Given the description of an element on the screen output the (x, y) to click on. 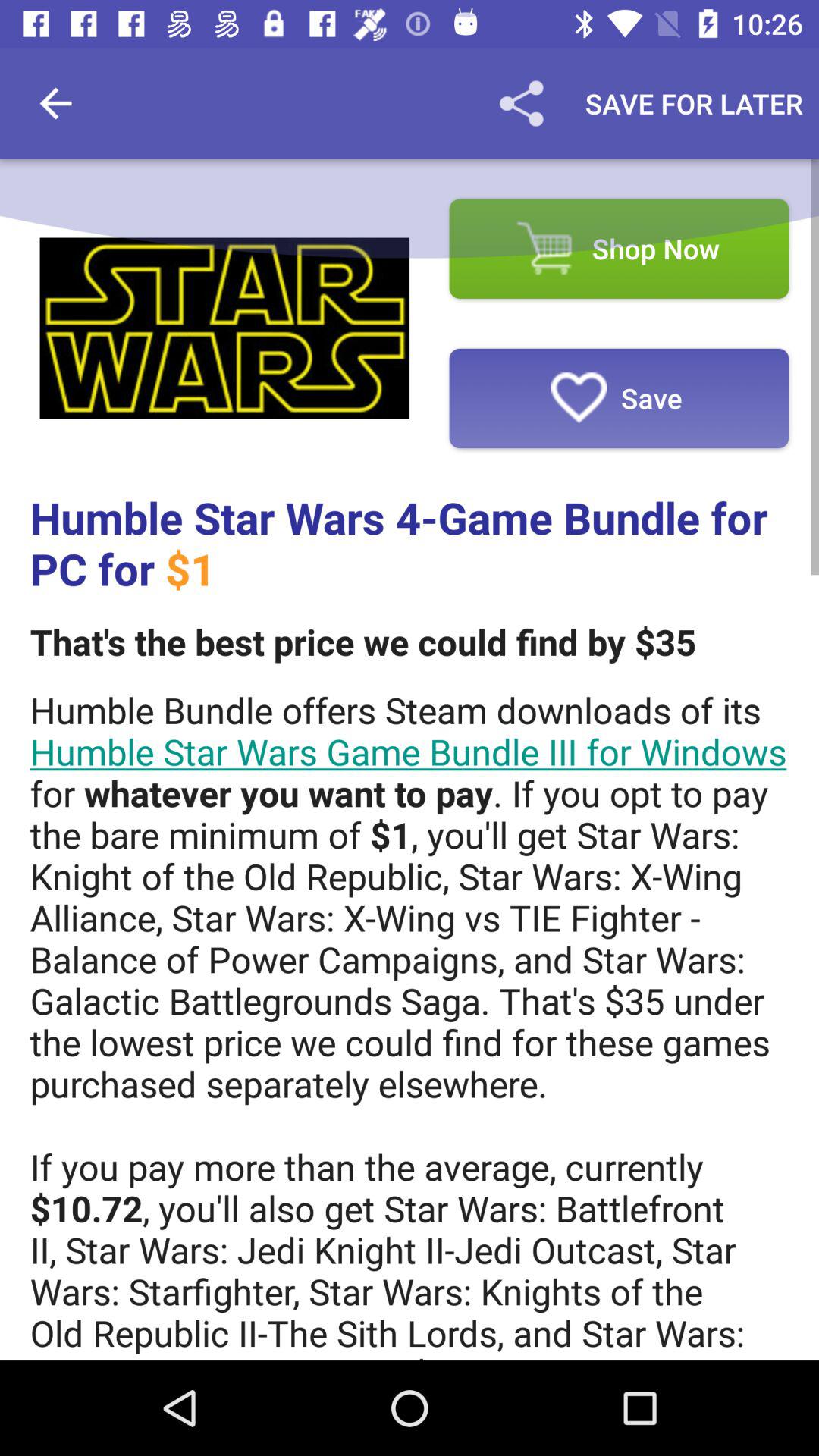
press the that s the (363, 641)
